Given the description of an element on the screen output the (x, y) to click on. 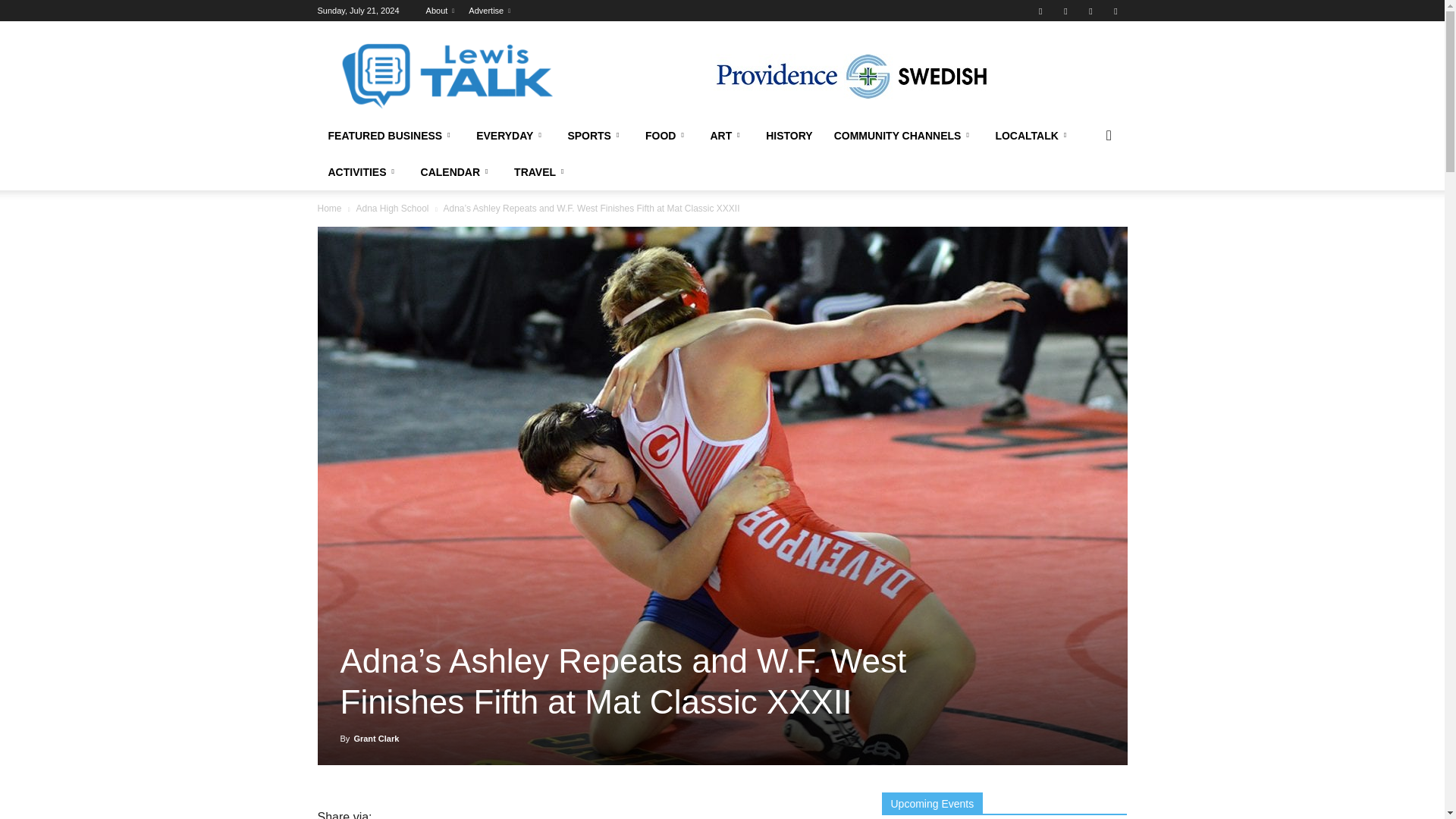
Facebook (1040, 10)
Twitter (1114, 10)
RSS (1090, 10)
Mail (1065, 10)
